Given the description of an element on the screen output the (x, y) to click on. 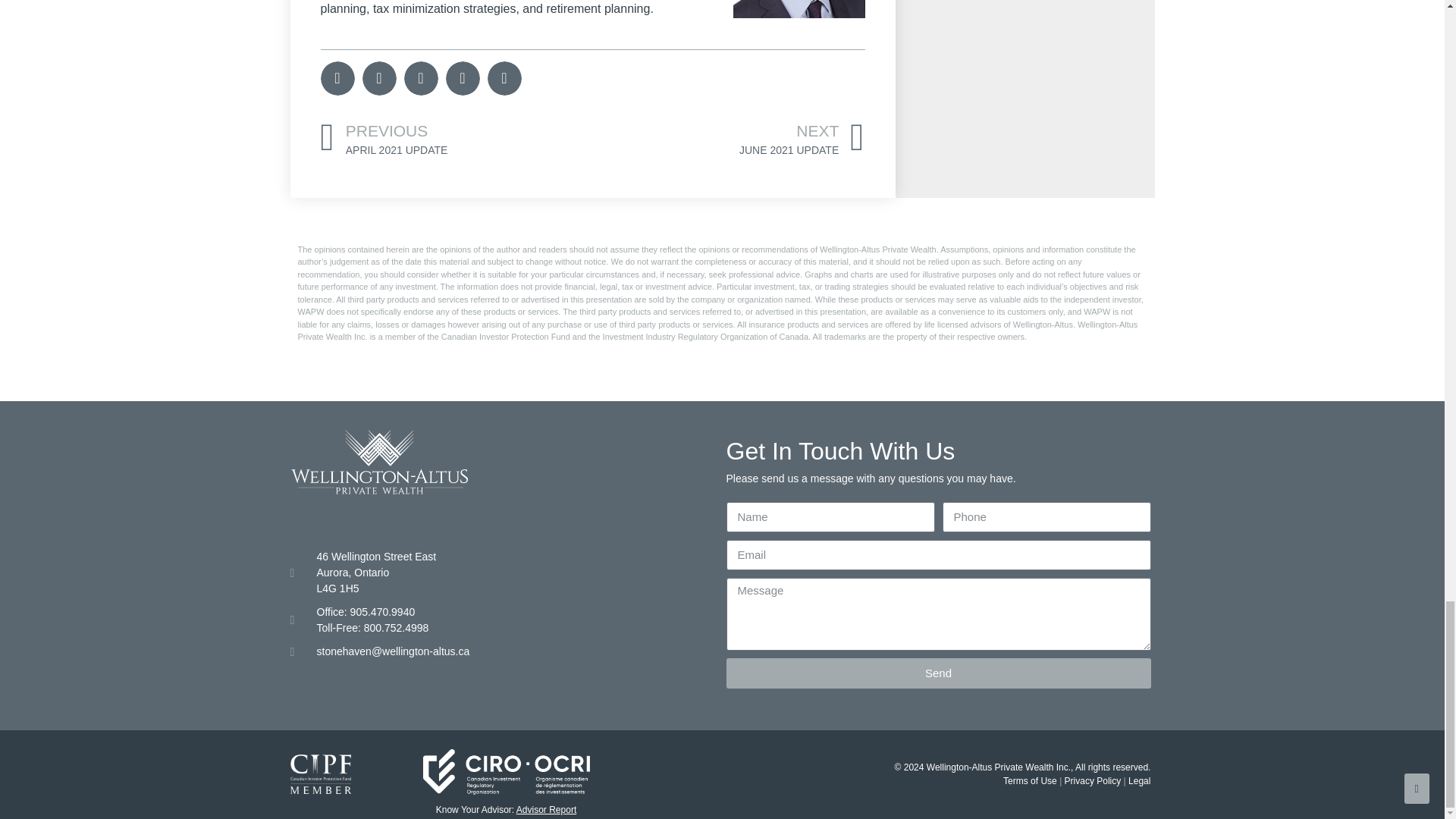
Terms of Use (1030, 780)
Legal (1139, 780)
Send (728, 138)
Privacy Policy (938, 673)
Know Your Advisor: Advisor Report (1091, 780)
